Given the description of an element on the screen output the (x, y) to click on. 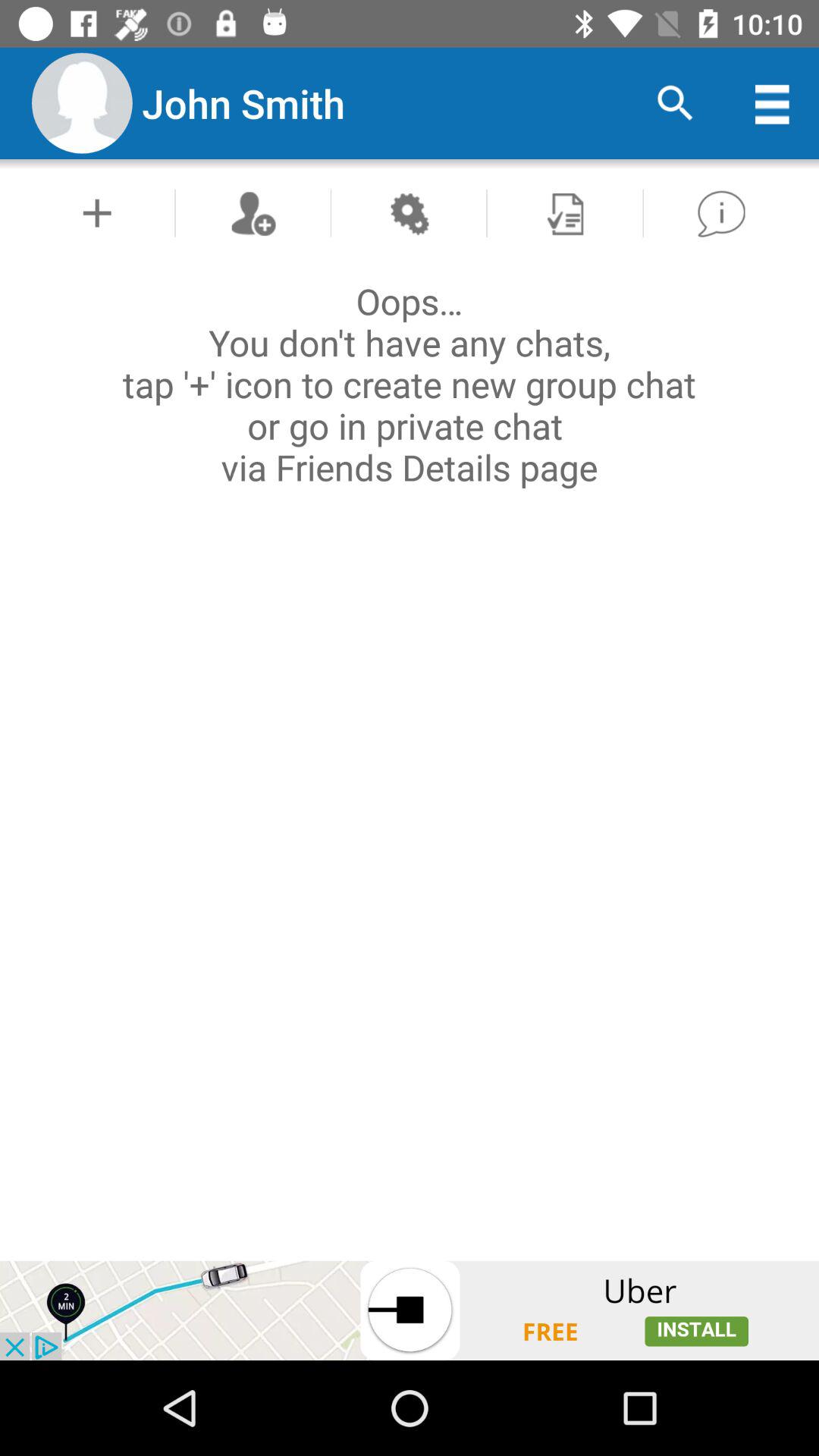
settings button (408, 213)
